Given the description of an element on the screen output the (x, y) to click on. 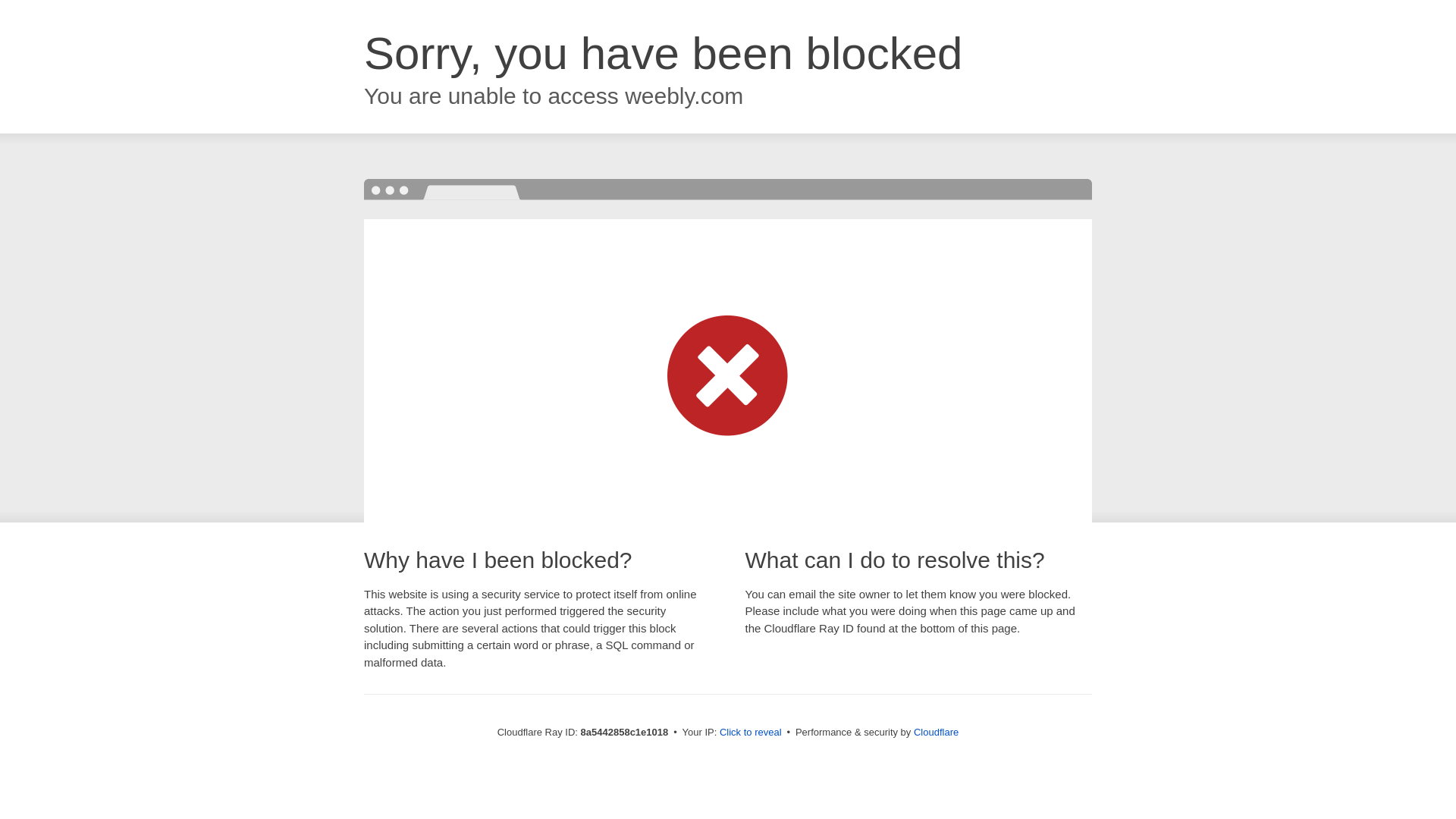
Cloudflare (936, 731)
Click to reveal (750, 732)
